Given the description of an element on the screen output the (x, y) to click on. 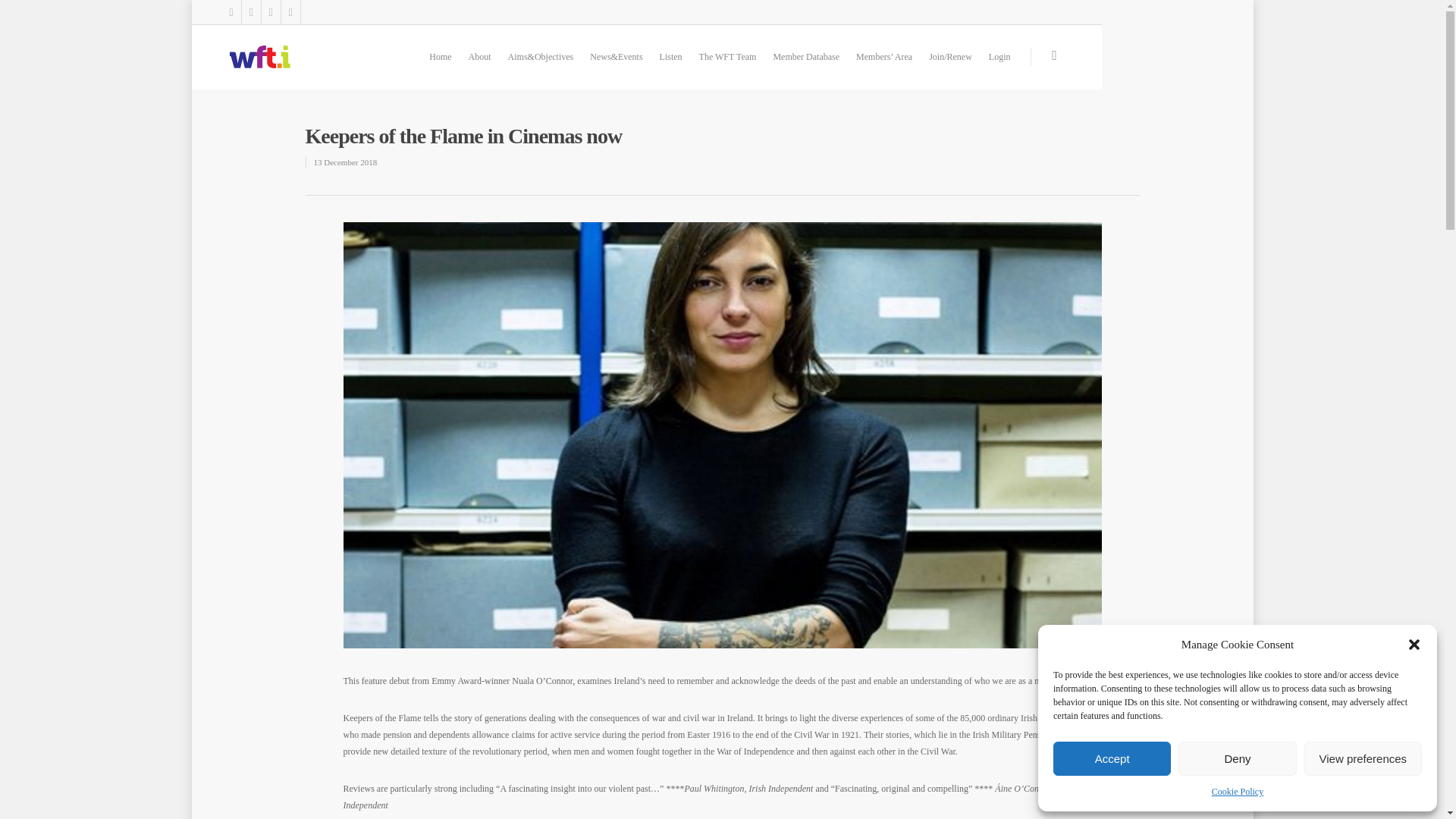
Member Database (806, 67)
The WFT Team (727, 67)
Deny (1236, 758)
Cookie Policy (1237, 791)
View preferences (1363, 758)
Accept (1111, 758)
